Given the description of an element on the screen output the (x, y) to click on. 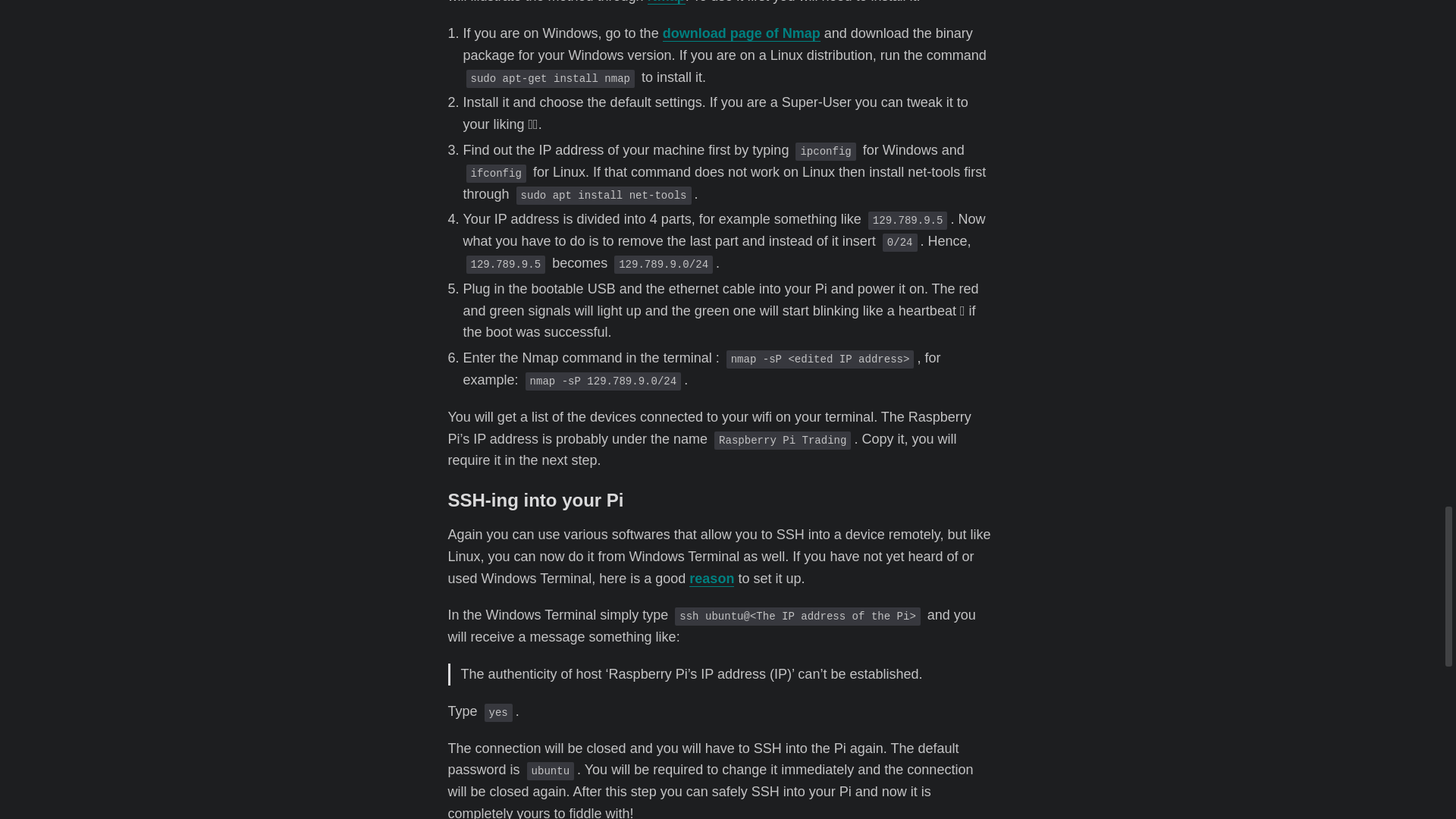
download page of Nmap (741, 32)
reason (710, 578)
Nmap (666, 2)
